Given the description of an element on the screen output the (x, y) to click on. 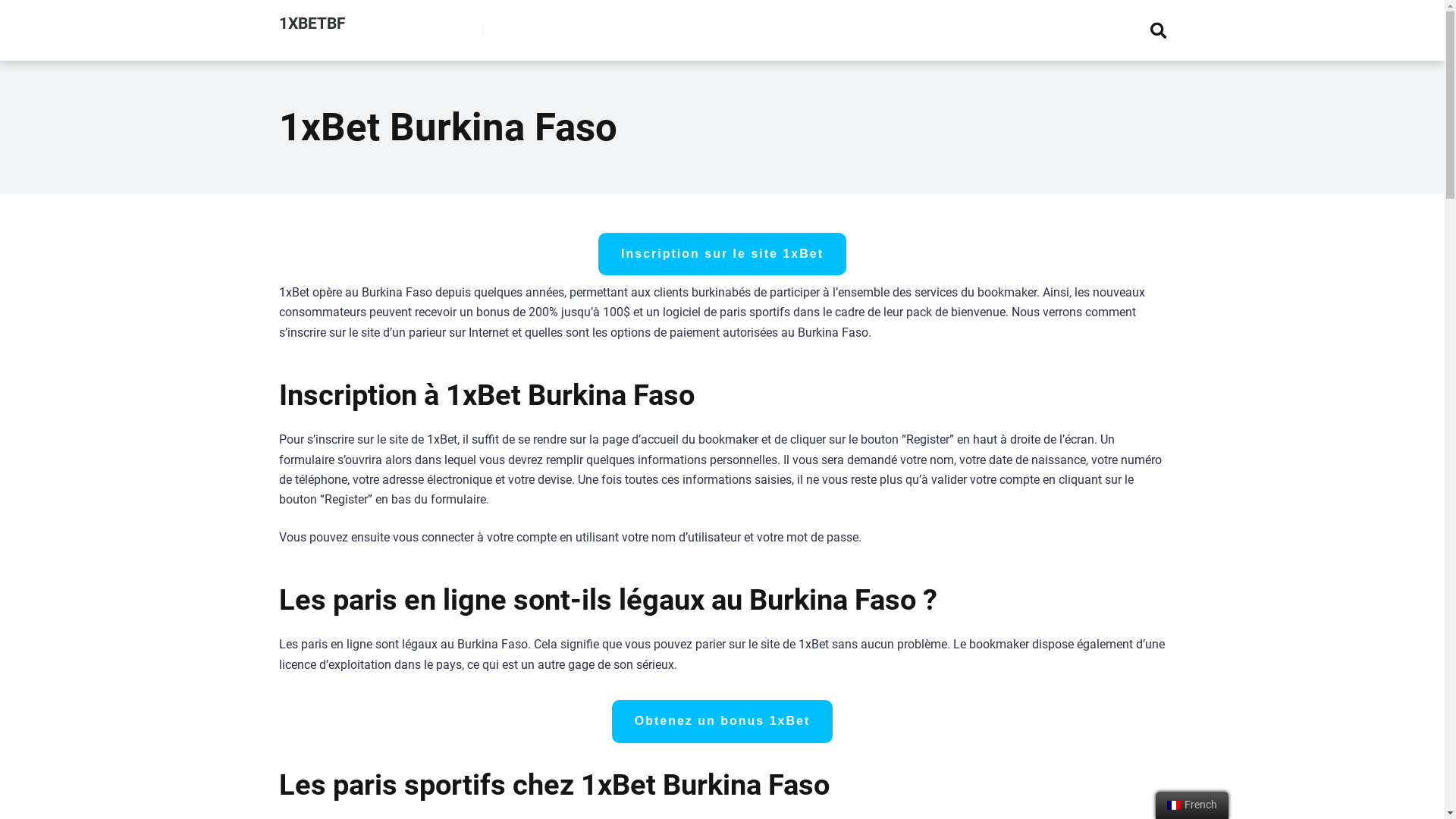
Inscription sur le site 1xBet Element type: text (722, 253)
Obtenez un bonus 1xBet Element type: text (722, 720)
French Element type: hover (1173, 804)
1XBETBF Element type: text (312, 17)
